Given the description of an element on the screen output the (x, y) to click on. 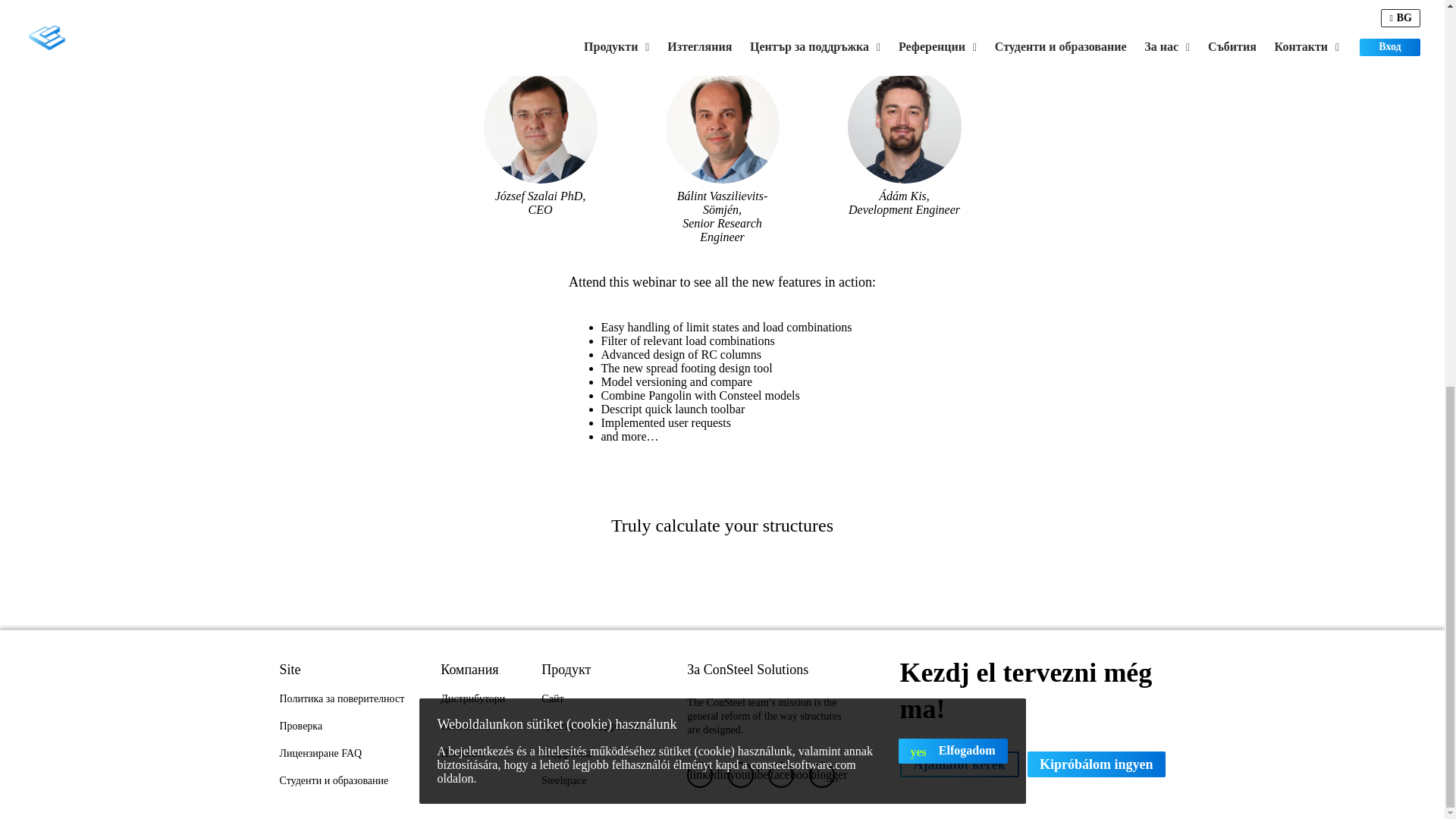
Site (341, 669)
